Given the description of an element on the screen output the (x, y) to click on. 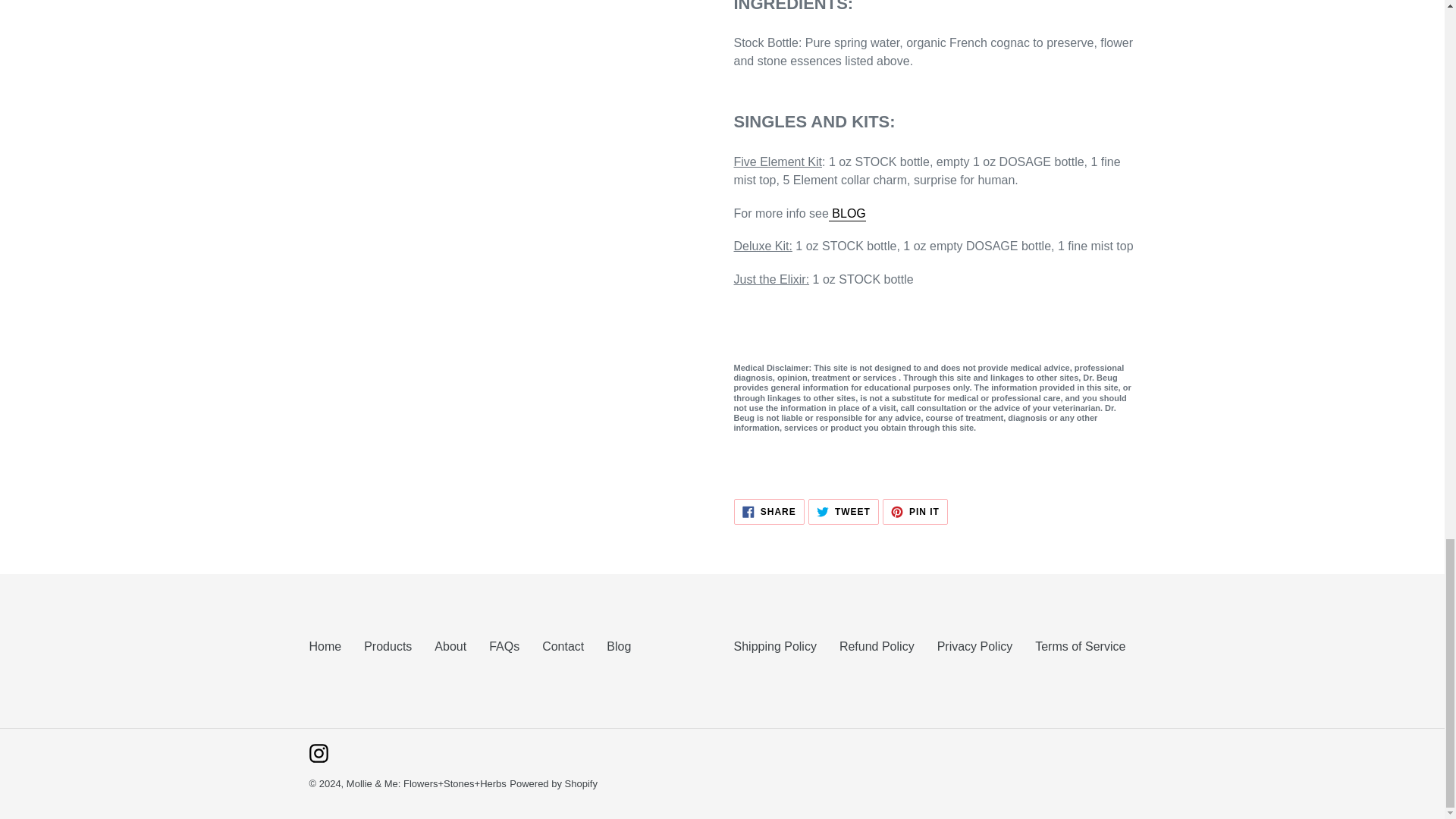
5 ELEMENT BLOG (847, 214)
